Given the description of an element on the screen output the (x, y) to click on. 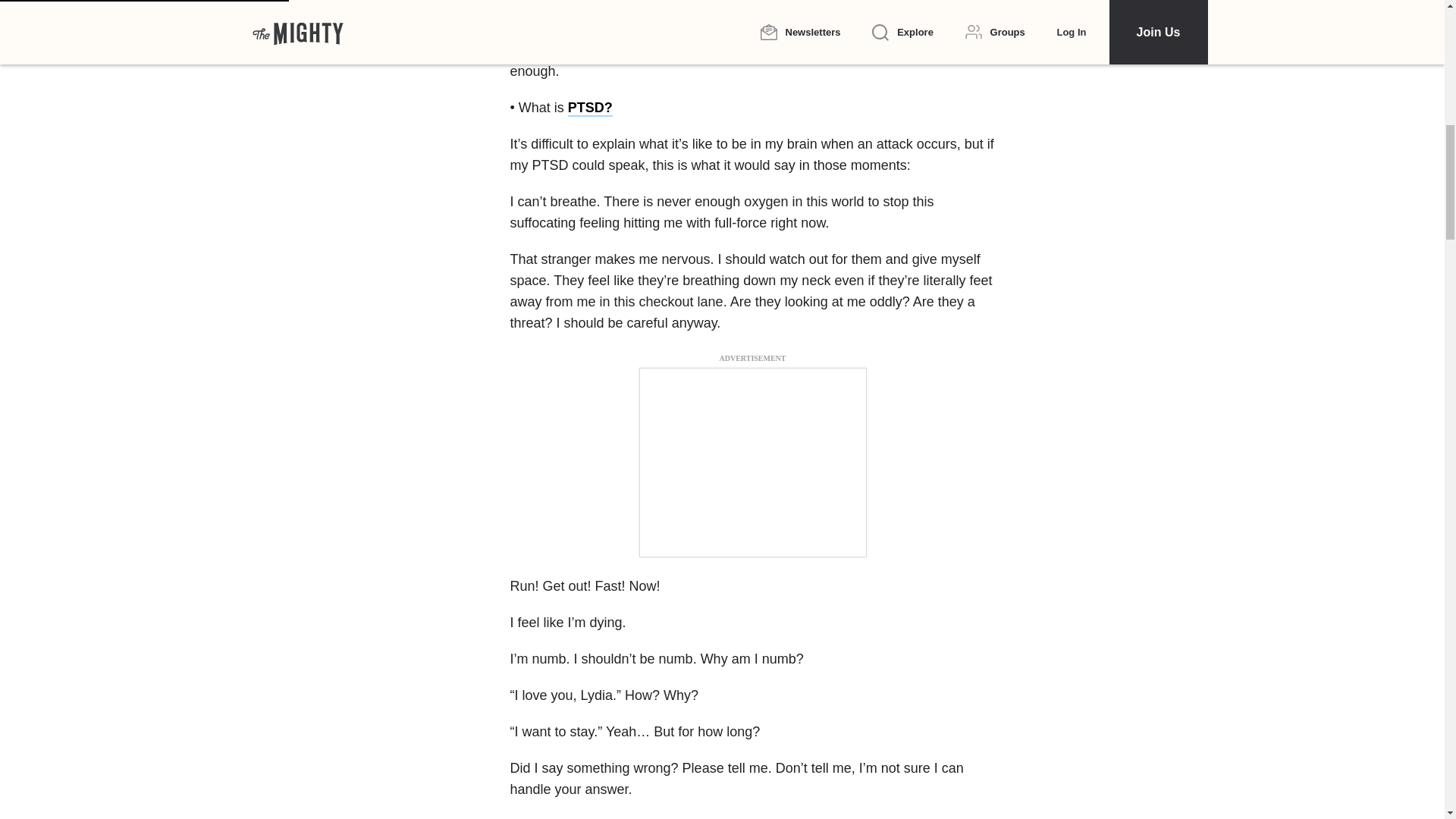
PTSD (585, 108)
post-traumatic stress disorder (745, 8)
PTSD (591, 8)
